Given the description of an element on the screen output the (x, y) to click on. 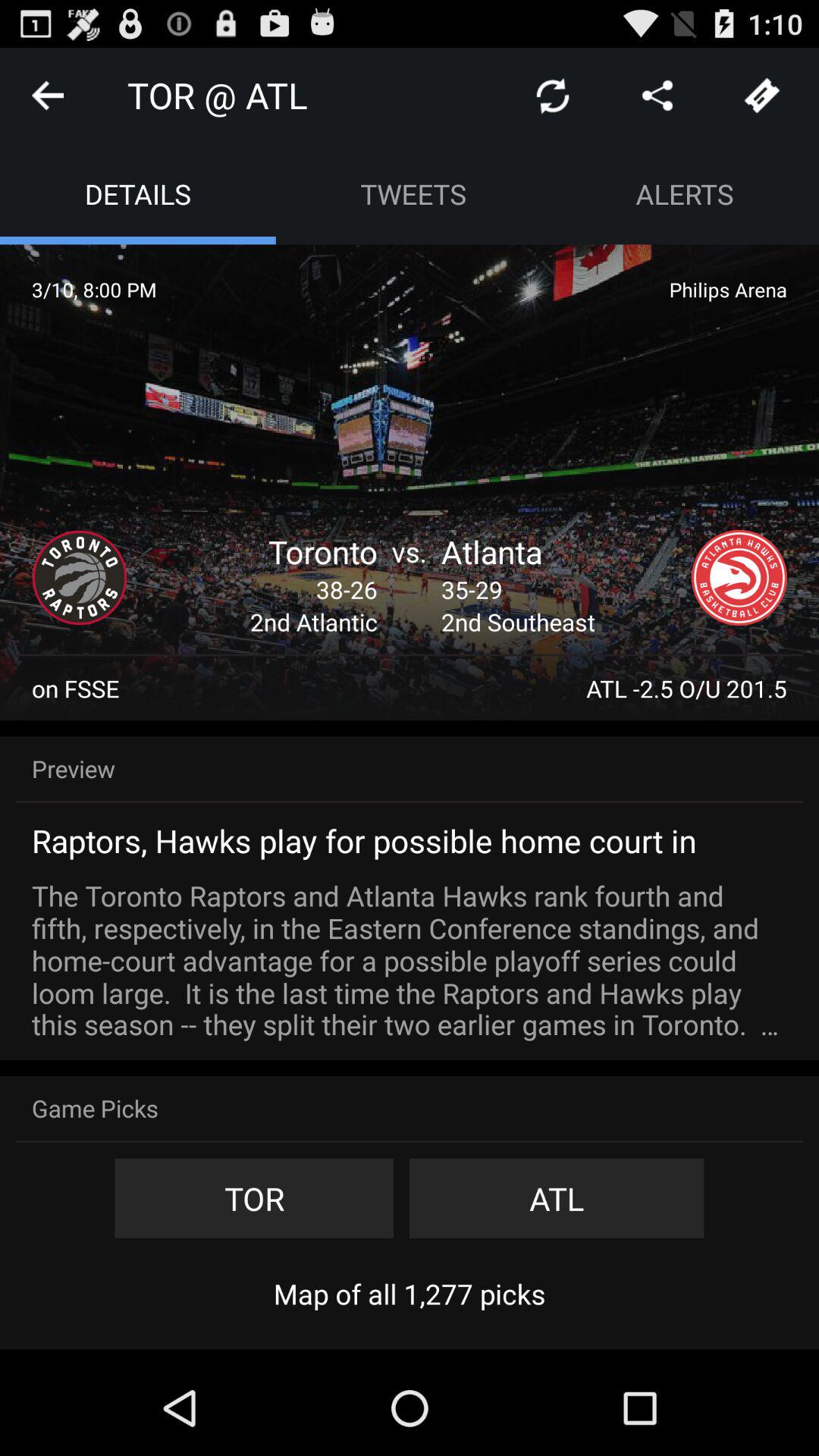
jump to alerts item (685, 193)
